Given the description of an element on the screen output the (x, y) to click on. 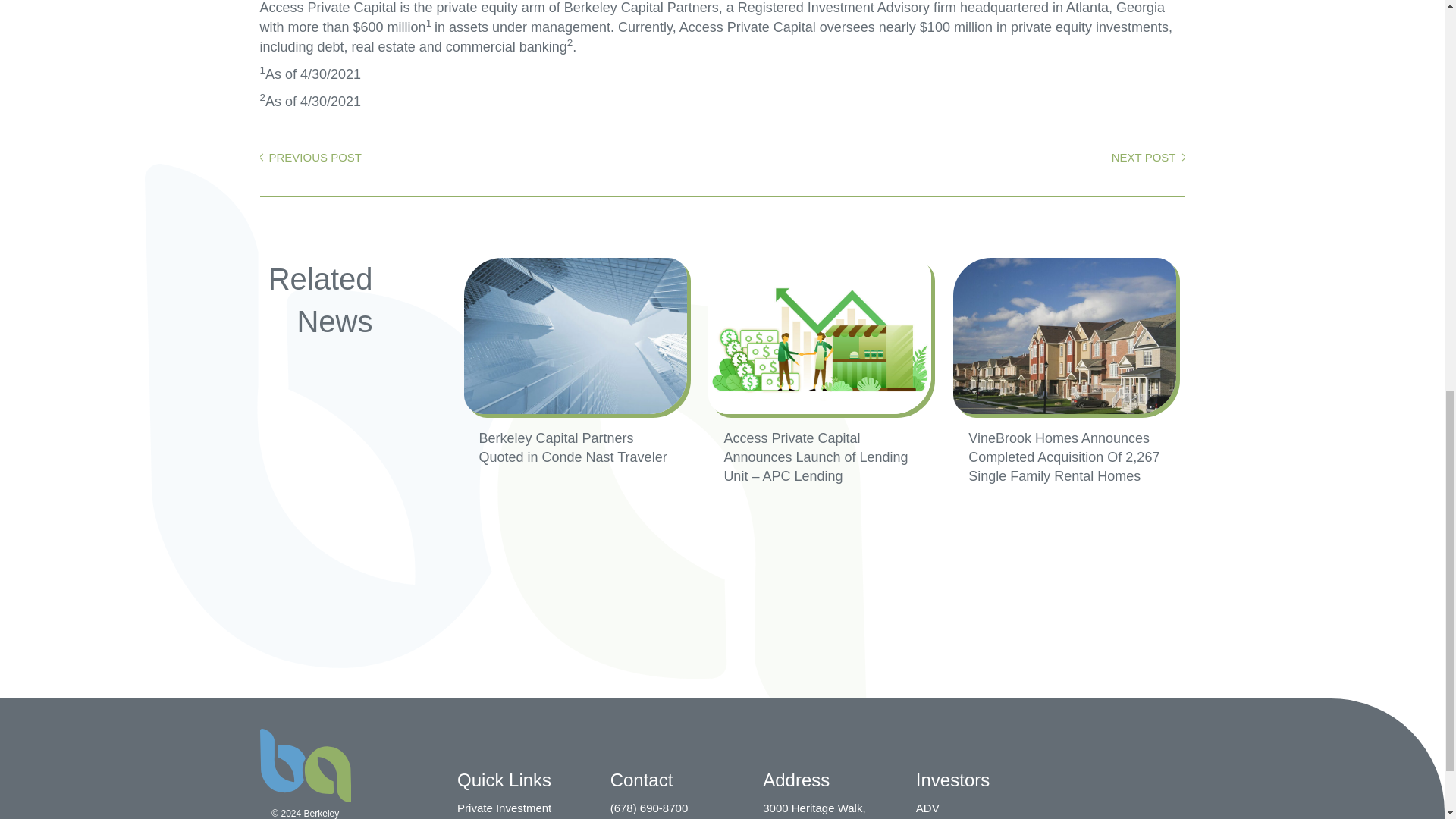
NEXT POST (1148, 157)
homepage-heroimage (819, 335)
Private Investment (504, 807)
Berkeley Capital Partners Quoted in Conde Nast Traveler (579, 361)
ADV Part 2 (943, 818)
ADV (927, 807)
PREVIOUS POST (310, 157)
